Given the description of an element on the screen output the (x, y) to click on. 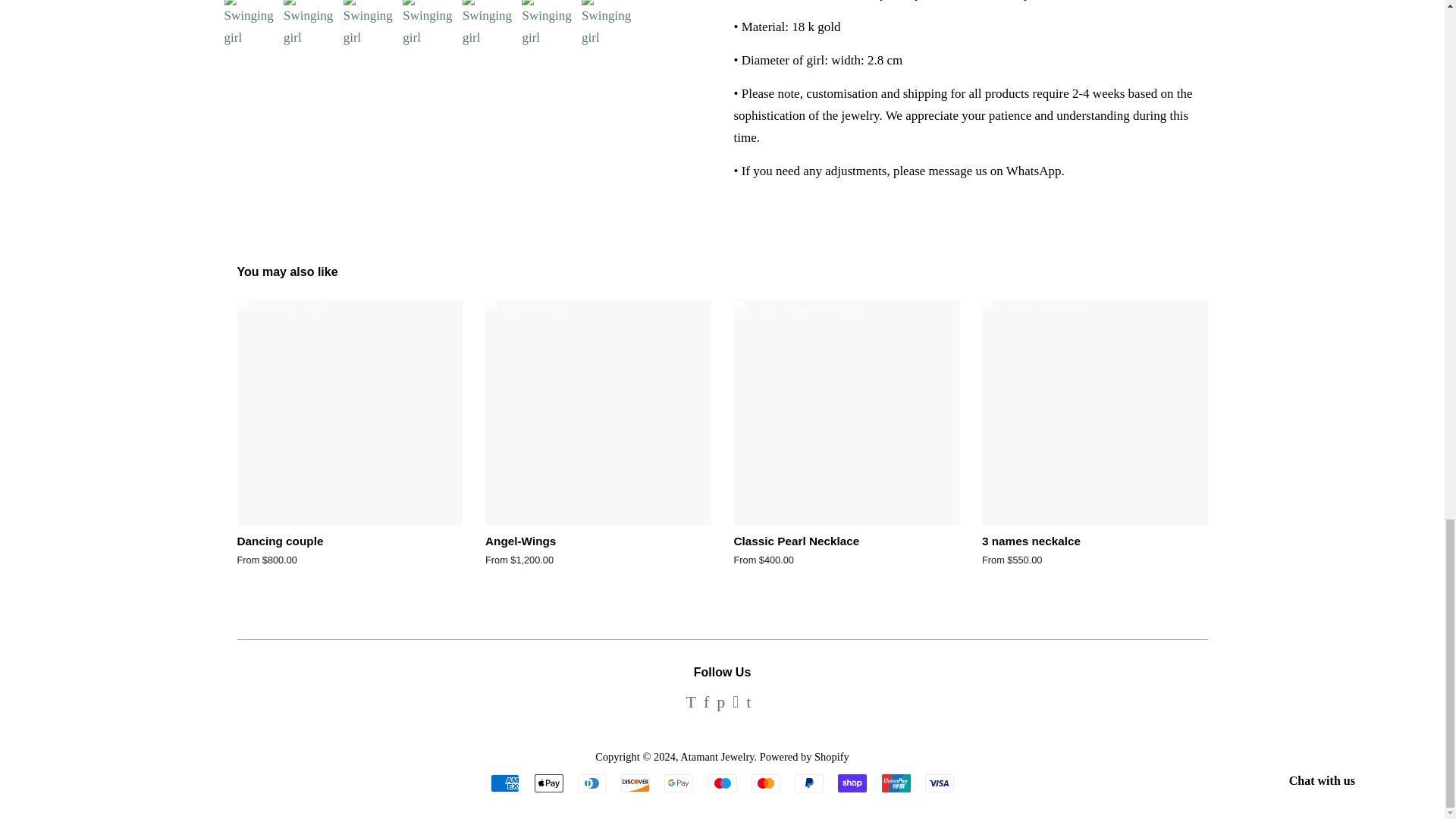
PayPal (809, 782)
Shop Pay (852, 782)
American Express (504, 782)
Mastercard (765, 782)
Google Pay (678, 782)
Maestro (721, 782)
Apple Pay (548, 782)
Visa (938, 782)
Union Pay (895, 782)
Discover (635, 782)
